Given the description of an element on the screen output the (x, y) to click on. 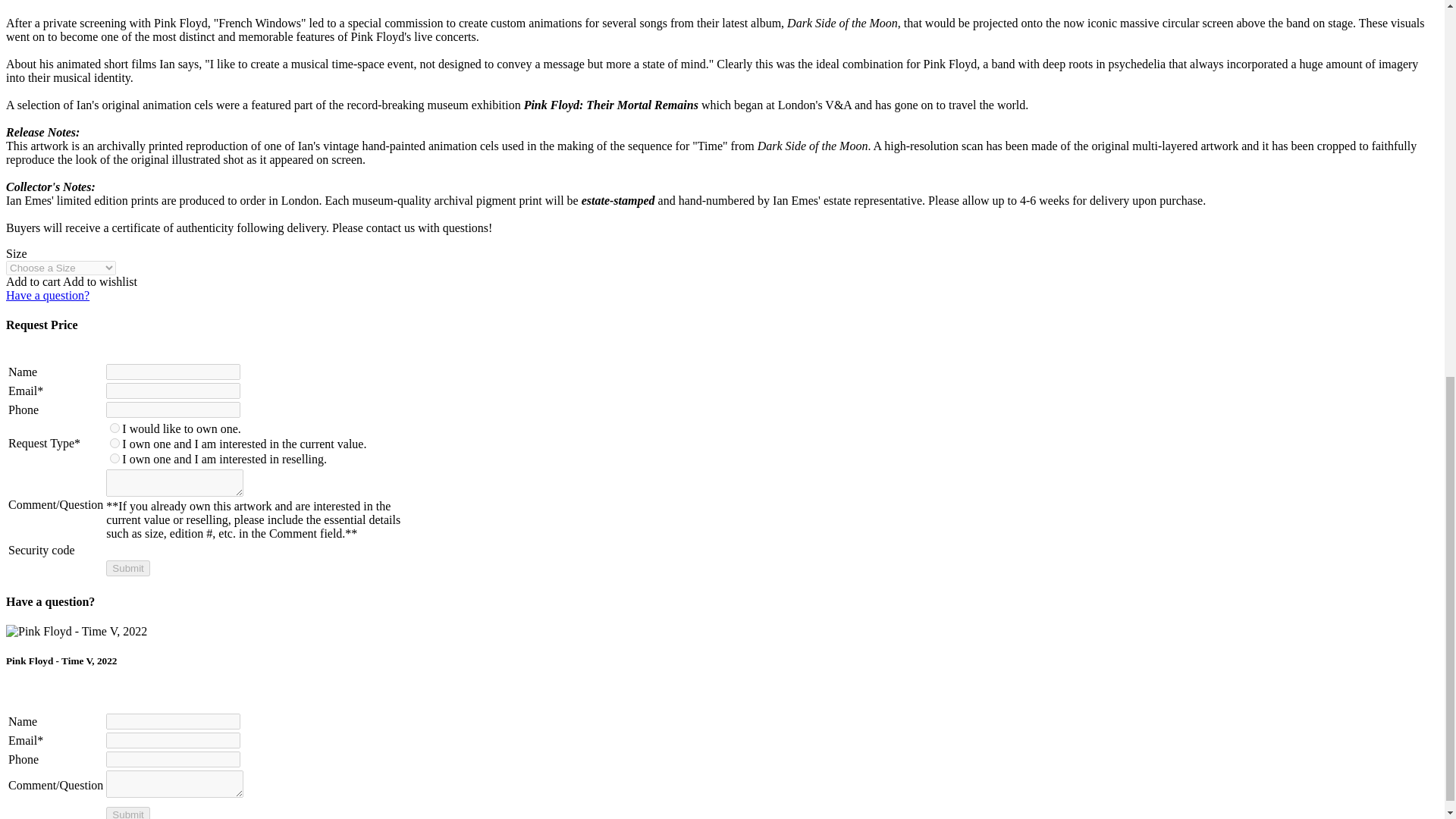
I own one and I am interested in reselling. (114, 458)
Add to wishlist (99, 281)
I would like to own one. (114, 428)
Have a question? (46, 295)
Submit (127, 568)
I own one and I am interested in the current value. (114, 442)
Add to cart (33, 281)
Submit (127, 568)
Add to wishlist (99, 281)
Add to cart (33, 281)
